Given the description of an element on the screen output the (x, y) to click on. 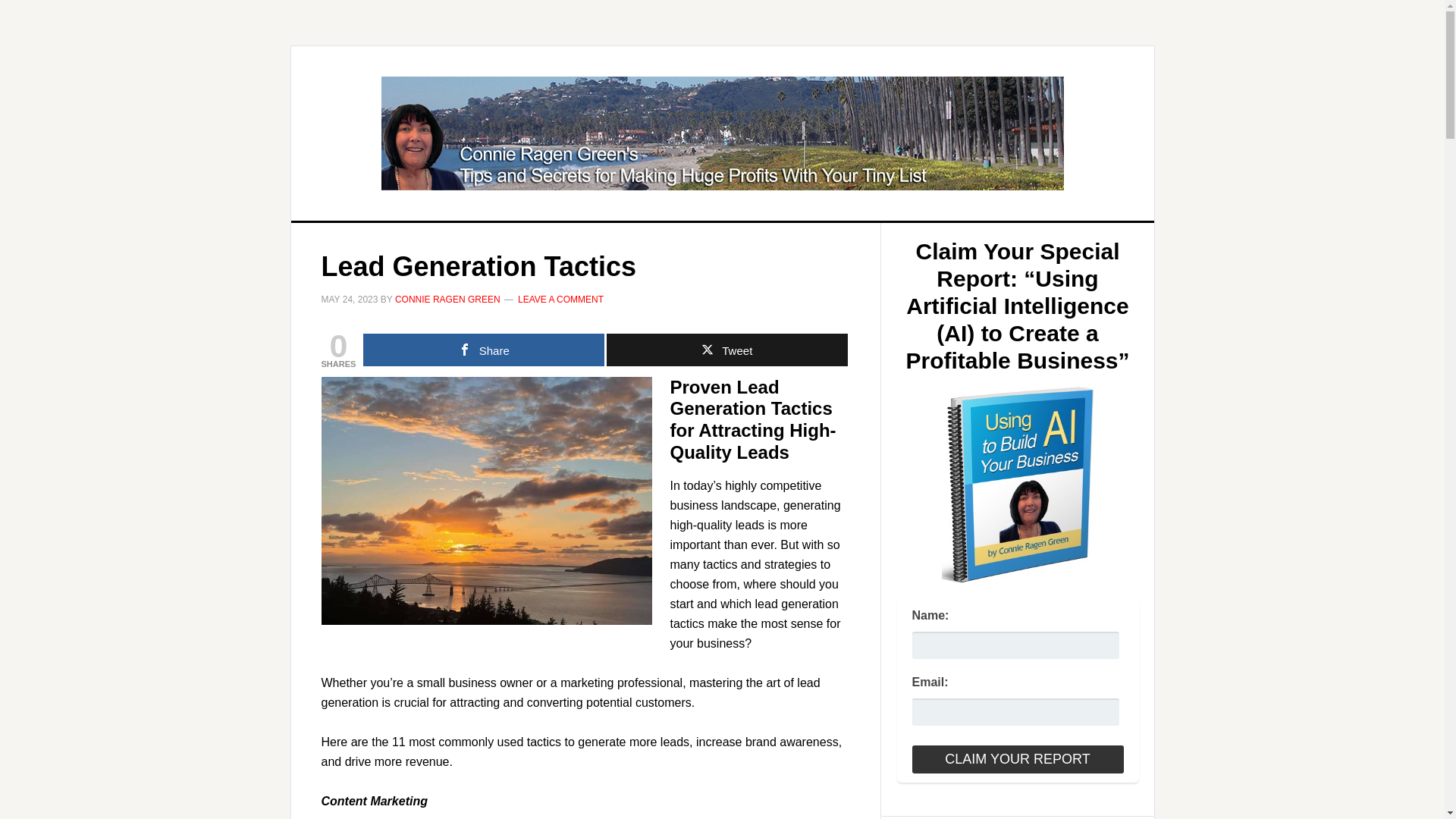
Claim Your Report (1016, 759)
CONNIE RAGEN GREEN (447, 299)
Tweet (727, 349)
Share (483, 349)
LEAVE A COMMENT (561, 299)
Claim Your Report (1016, 759)
HUGE PROFITS TINY LIST WITH CONNIE RAGEN GREEN (722, 133)
